Given the description of an element on the screen output the (x, y) to click on. 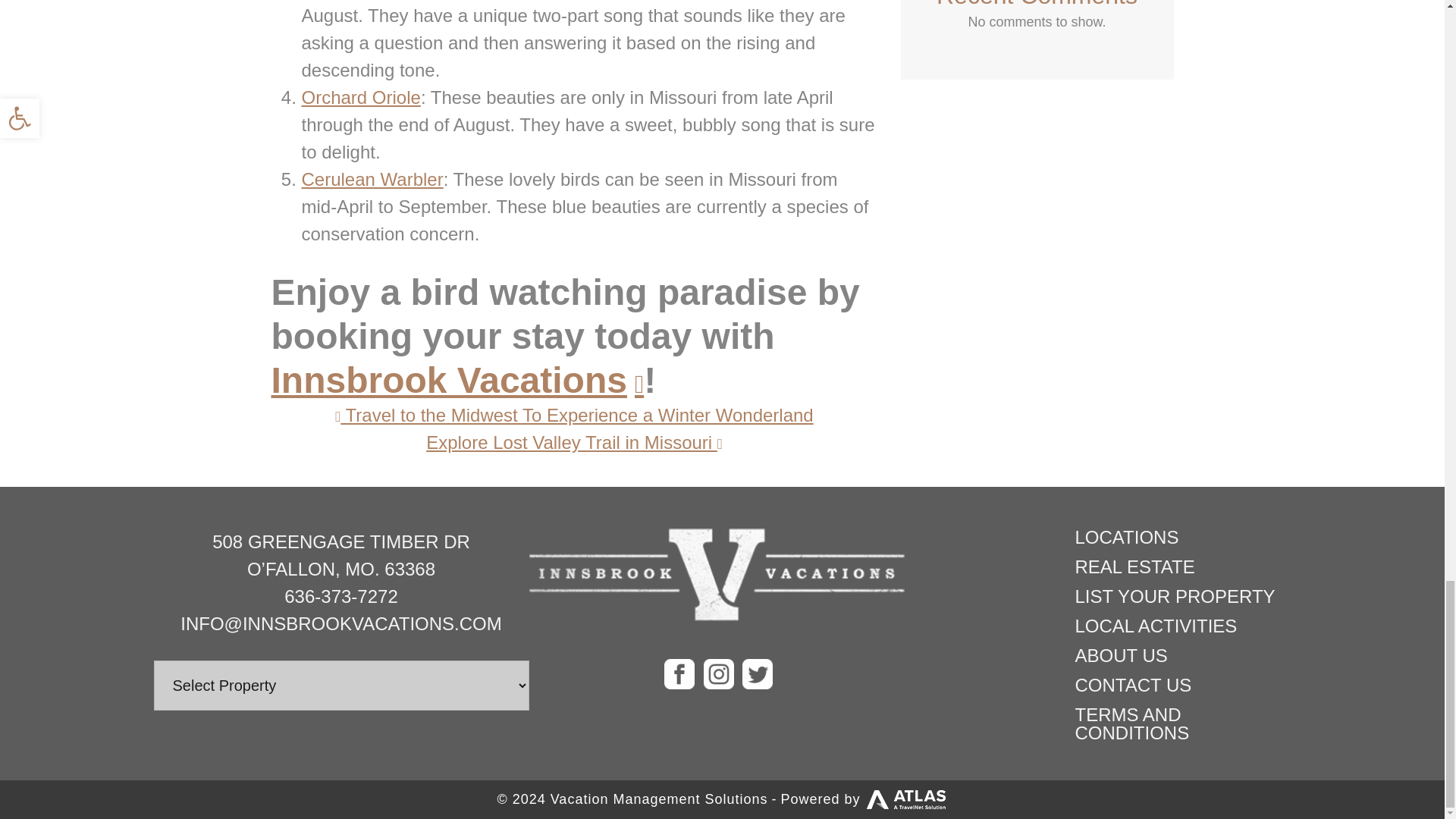
Cerulean Warbler (372, 178)
Orchard Oriole (360, 96)
